Given the description of an element on the screen output the (x, y) to click on. 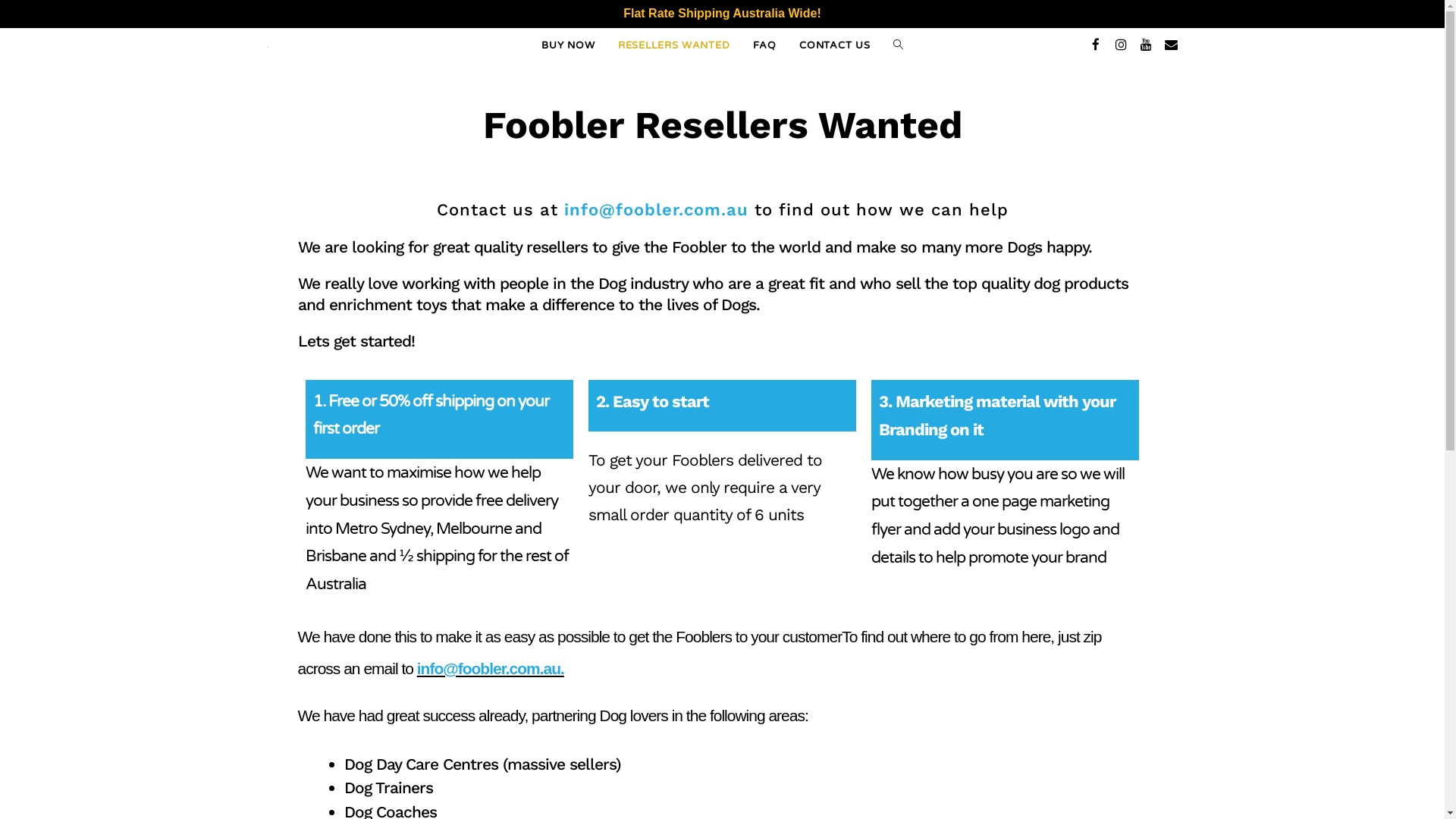
RESELLERS WANTED Element type: text (673, 45)
BUY NOW Element type: text (567, 45)
CONTACT US Element type: text (834, 45)
FAQ Element type: text (764, 45)
